Given the description of an element on the screen output the (x, y) to click on. 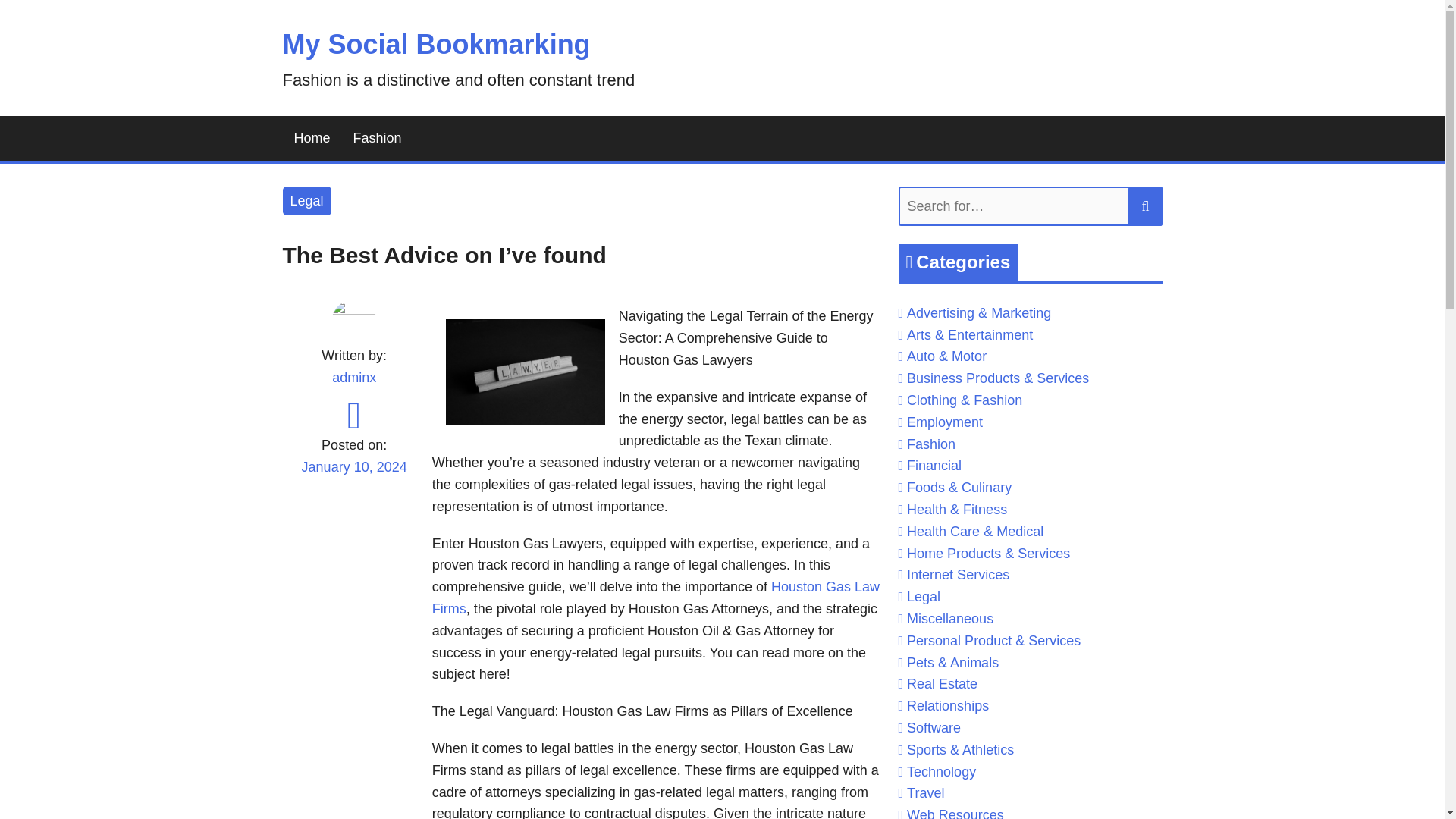
Relationships (947, 705)
Legal (306, 201)
Fashion (931, 444)
Home (311, 138)
Technology (941, 771)
Web Resources (955, 813)
January 10, 2024 (353, 476)
Financial (933, 465)
My Social Bookmarking (435, 43)
Legal (923, 596)
